Given the description of an element on the screen output the (x, y) to click on. 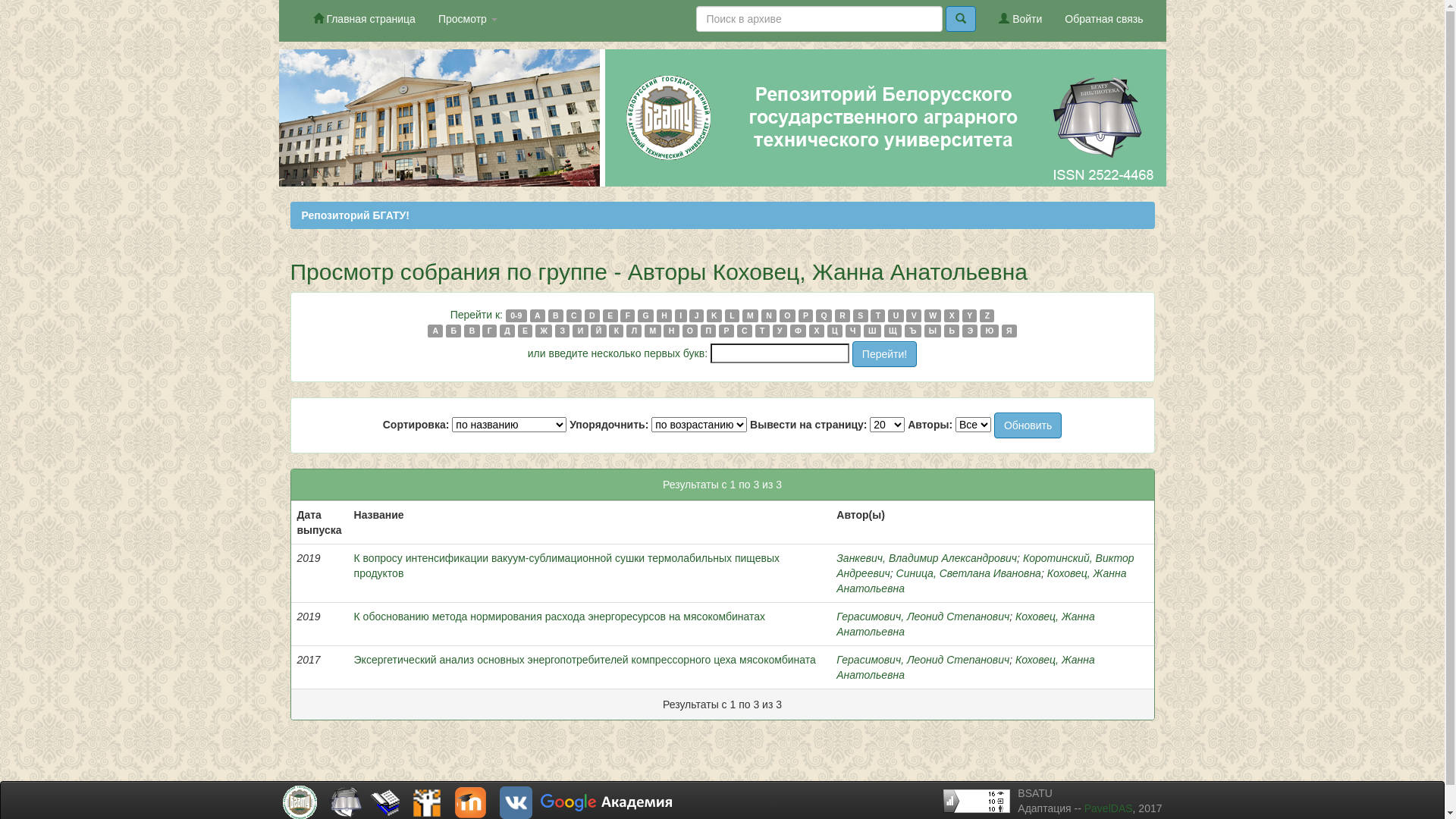
M Element type: text (750, 315)
0-9 Element type: text (516, 315)
Y Element type: text (969, 315)
PavelDAS Element type: text (1108, 808)
Q Element type: text (823, 315)
D Element type: text (591, 315)
H Element type: text (663, 315)
K Element type: text (713, 315)
E Element type: text (610, 315)
P Element type: text (805, 315)
C Element type: text (573, 315)
F Element type: text (627, 315)
V Element type: text (913, 315)
T Element type: text (877, 315)
O Element type: text (787, 315)
I Element type: text (680, 315)
L Element type: text (731, 315)
S Element type: text (860, 315)
A Element type: text (537, 315)
J Element type: text (695, 315)
B Element type: text (555, 315)
Z Element type: text (986, 315)
U Element type: text (895, 315)
G Element type: text (645, 315)
R Element type: text (842, 315)
W Element type: text (932, 315)
N Element type: text (768, 315)
X Element type: text (951, 315)
